Given the description of an element on the screen output the (x, y) to click on. 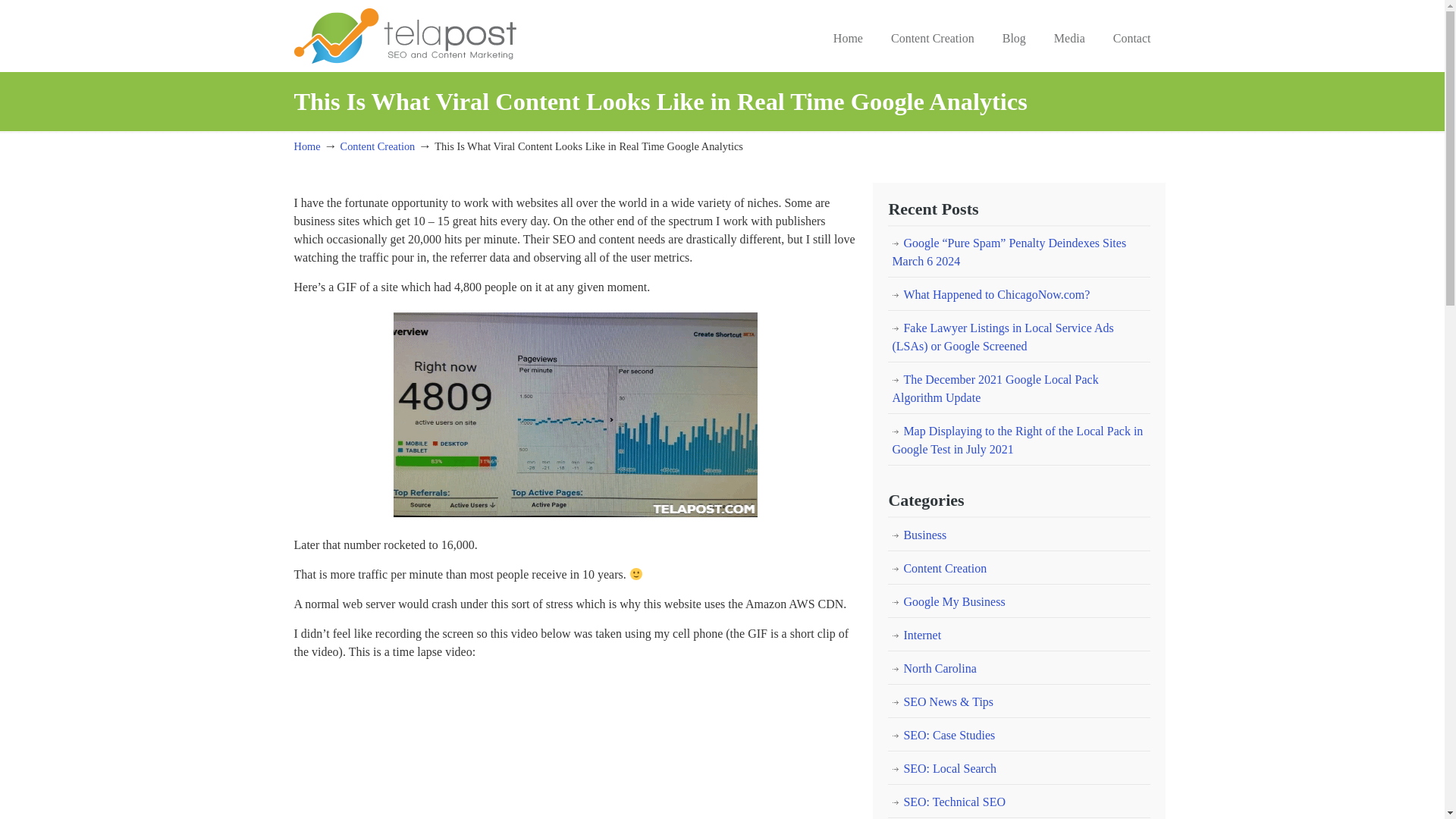
telapost (405, 33)
Home (307, 146)
telapost (405, 33)
North Carolina (1019, 668)
SEO: Local Search (1019, 768)
What Happened to ChicagoNow.com? (1019, 295)
Internet (1019, 635)
Business (1019, 535)
Content Creation (377, 146)
SEO: Case Studies (1019, 735)
Contact (1131, 38)
Content Creation (933, 38)
Media (1069, 38)
Google My Business (1019, 602)
The December 2021 Google Local Pack Algorithm Update (1019, 388)
